Given the description of an element on the screen output the (x, y) to click on. 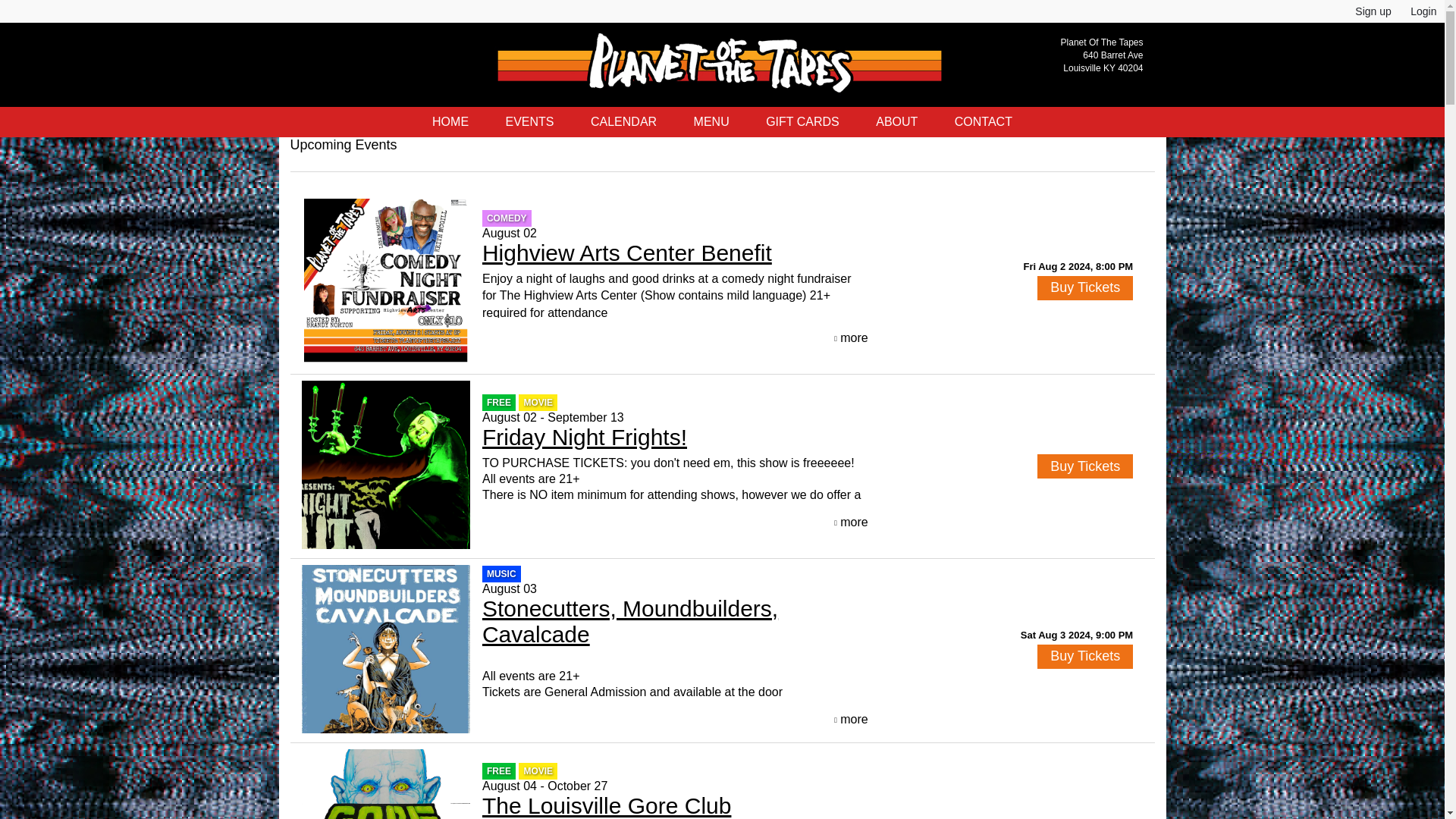
Stonecutters, Moundbuilders, Cavalcade (629, 621)
more (850, 719)
more (850, 337)
Buy Tickets (1084, 466)
EVENTS (529, 122)
CALENDAR (622, 122)
HOME (449, 122)
more (850, 522)
CONTACT (983, 122)
Friday Night Frights! (584, 437)
Sign up (1373, 10)
ABOUT (896, 122)
MENU (711, 122)
Highview Arts Center Benefit (626, 252)
Buy Tickets (1084, 288)
